Given the description of an element on the screen output the (x, y) to click on. 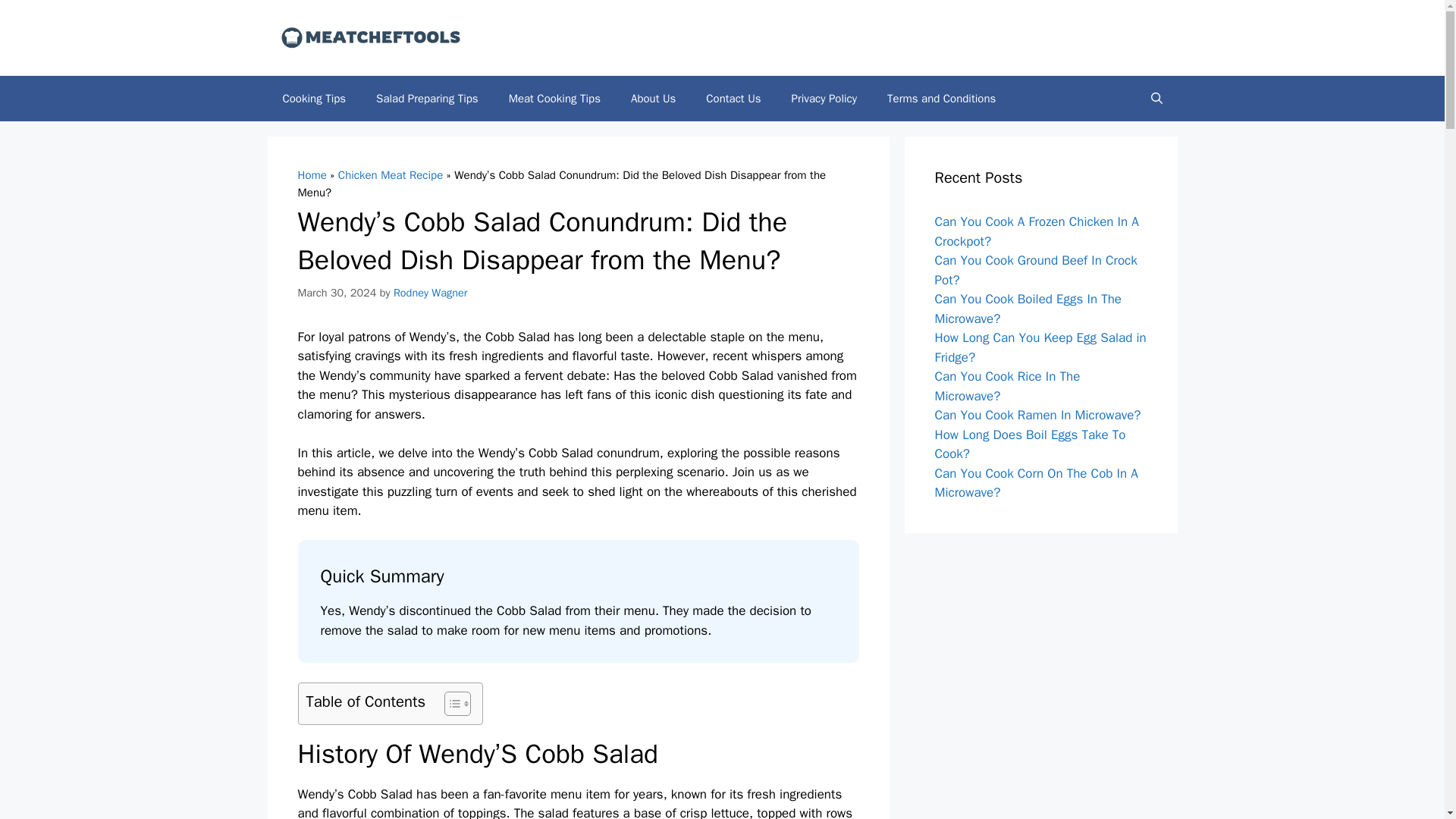
Salad Preparing Tips (427, 98)
How Long Can You Keep Egg Salad in Fridge? (1039, 347)
How Long Does Boil Eggs Take To Cook? (1029, 443)
Can You Cook Rice In The Microwave? (1007, 386)
Cooking Tips (313, 98)
Privacy Policy (824, 98)
Can You Cook A Frozen Chicken In A Crockpot? (1036, 231)
Can You Cook Ground Beef In Crock Pot? (1035, 270)
Chicken Meat Recipe (389, 174)
About Us (652, 98)
